Given the description of an element on the screen output the (x, y) to click on. 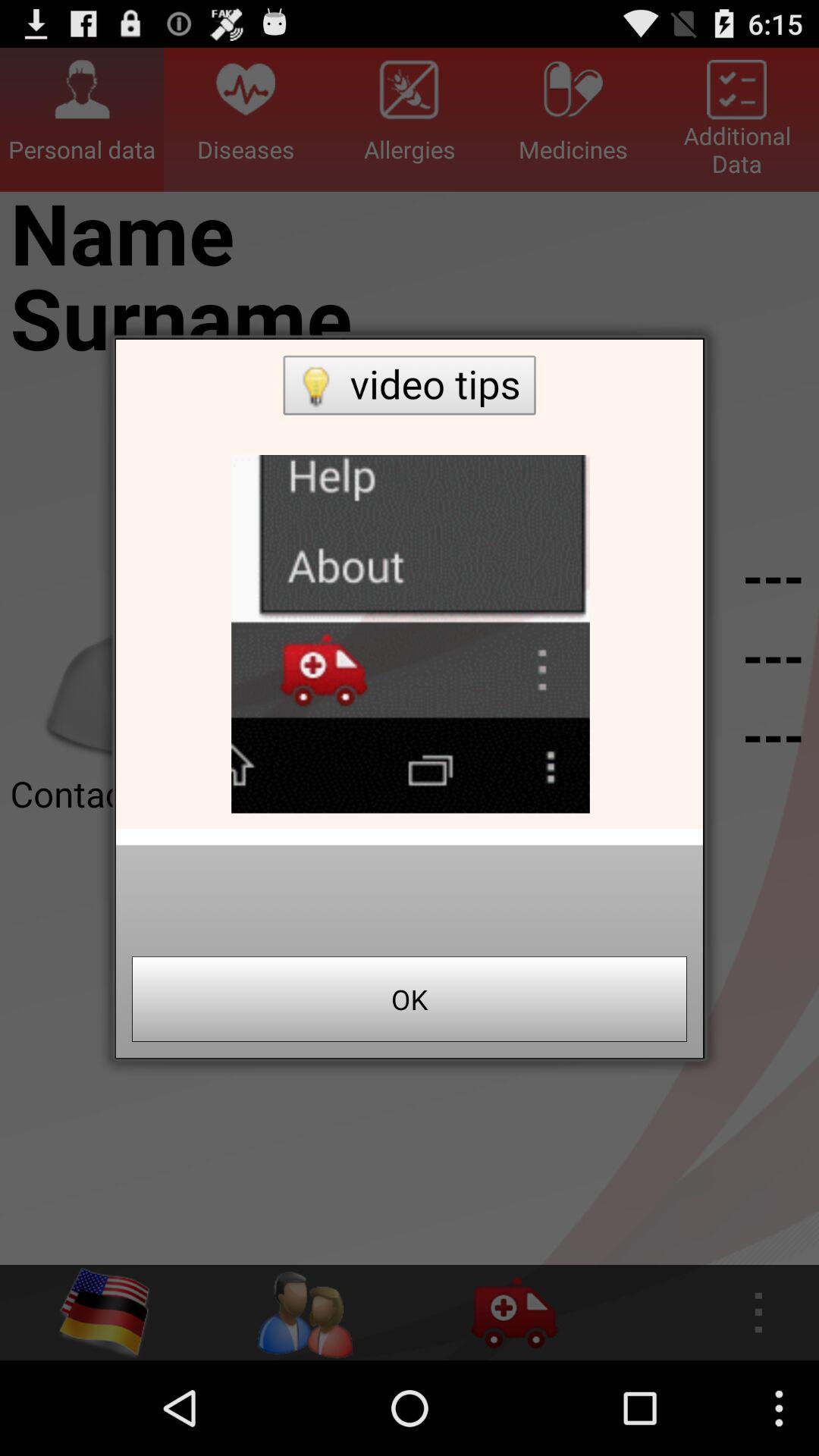
instructions (409, 584)
